Given the description of an element on the screen output the (x, y) to click on. 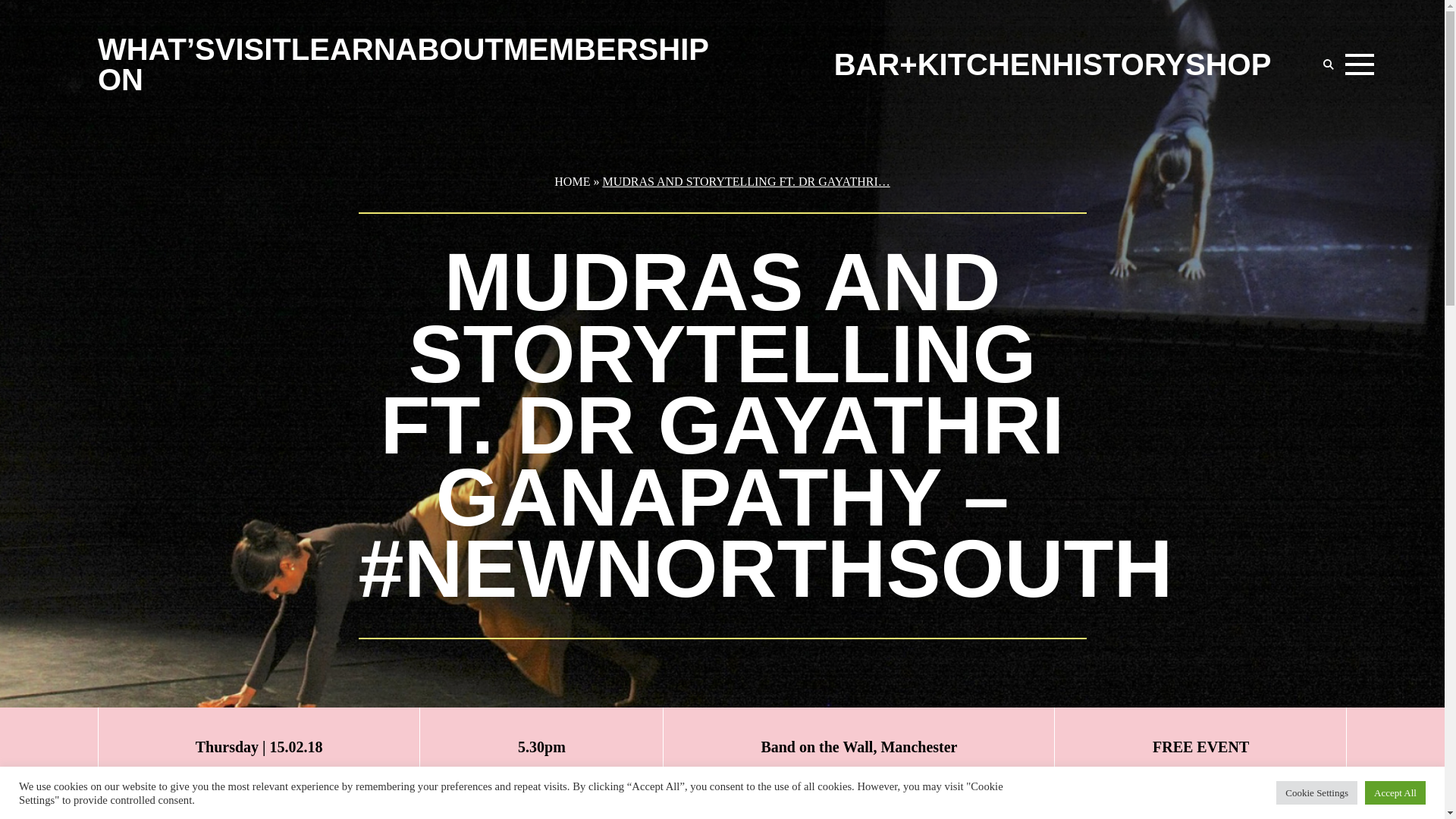
ABOUT (449, 49)
MEMBERSHIP (606, 49)
LEARN (343, 49)
HISTORY (1118, 64)
SHOP (1228, 64)
VISIT (253, 49)
